Given the description of an element on the screen output the (x, y) to click on. 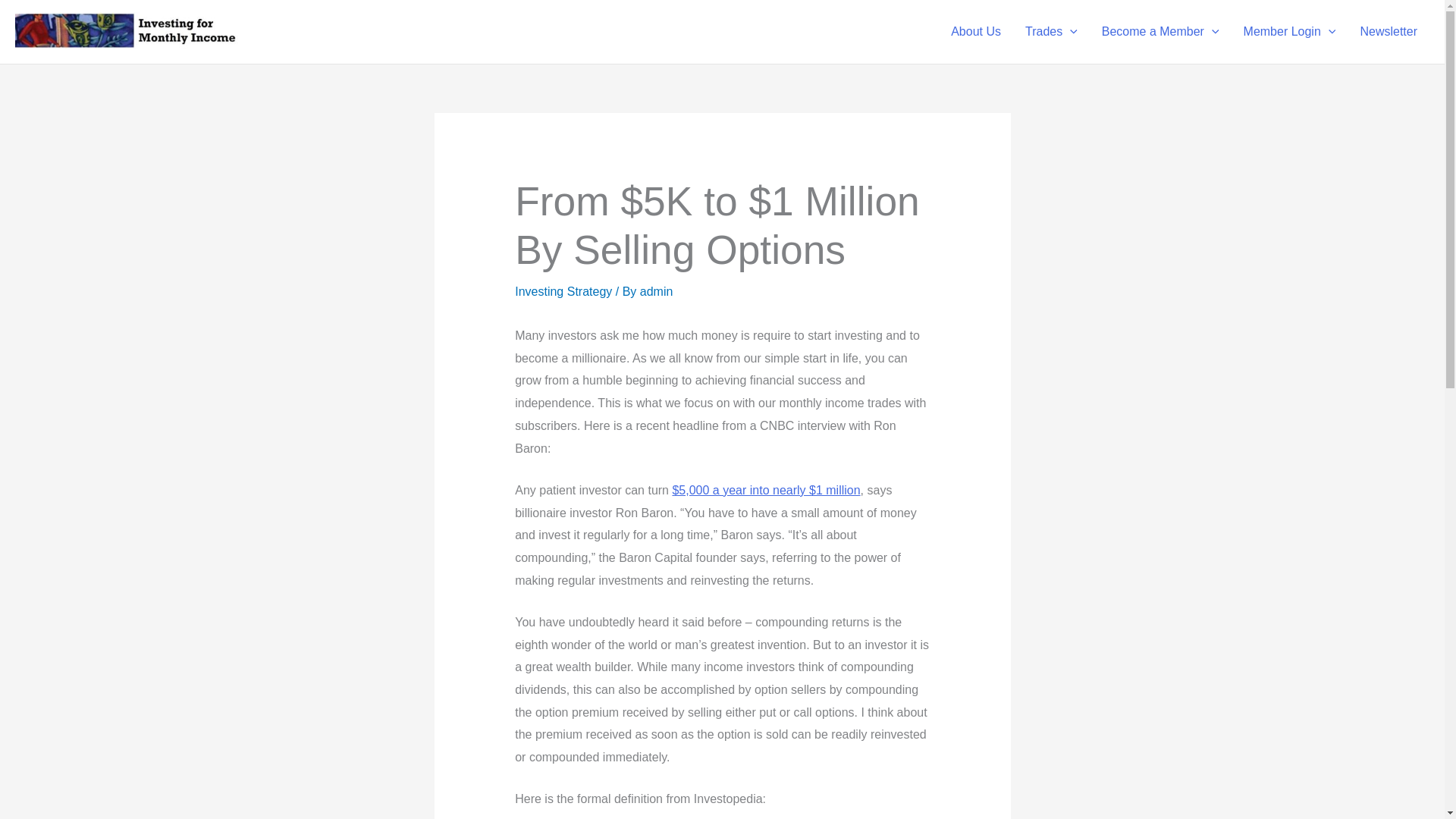
About Us (976, 31)
View all posts by admin (656, 291)
Member Login (1289, 31)
Become a Member (1160, 31)
admin (656, 291)
Investing Strategy (563, 291)
Trades (1051, 31)
Newsletter (1388, 31)
